Given the description of an element on the screen output the (x, y) to click on. 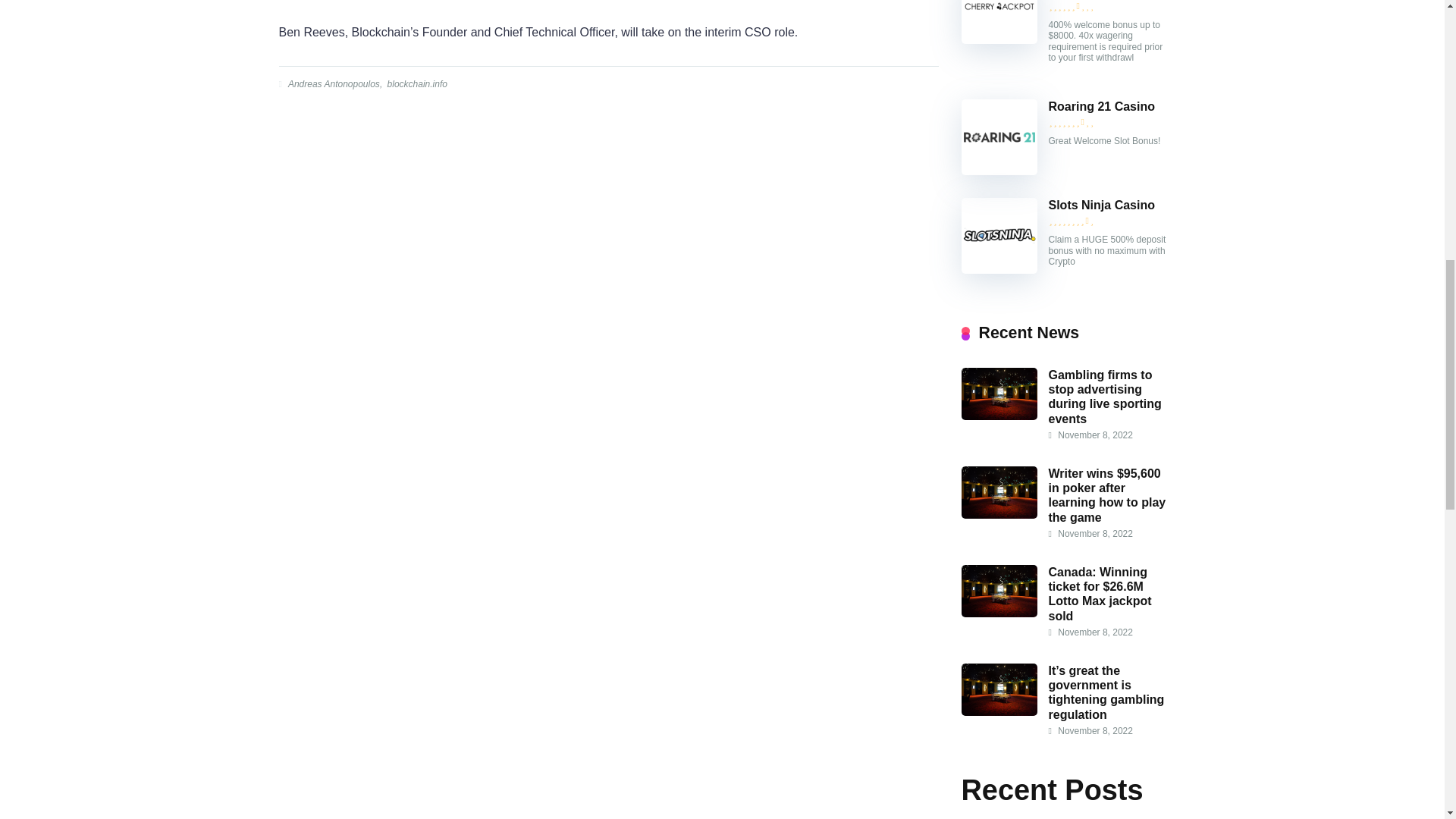
Slots Ninja Casino (1101, 205)
Cherry Jackpot Casino (998, 39)
Slots Ninja Casino (998, 269)
blockchain.info (415, 83)
Roaring 21 Casino (1101, 106)
Roaring 21 Casino (998, 170)
Slots Ninja Casino (1101, 205)
Andreas Antonopoulos (332, 83)
Roaring 21 Casino (1101, 106)
